Given the description of an element on the screen output the (x, y) to click on. 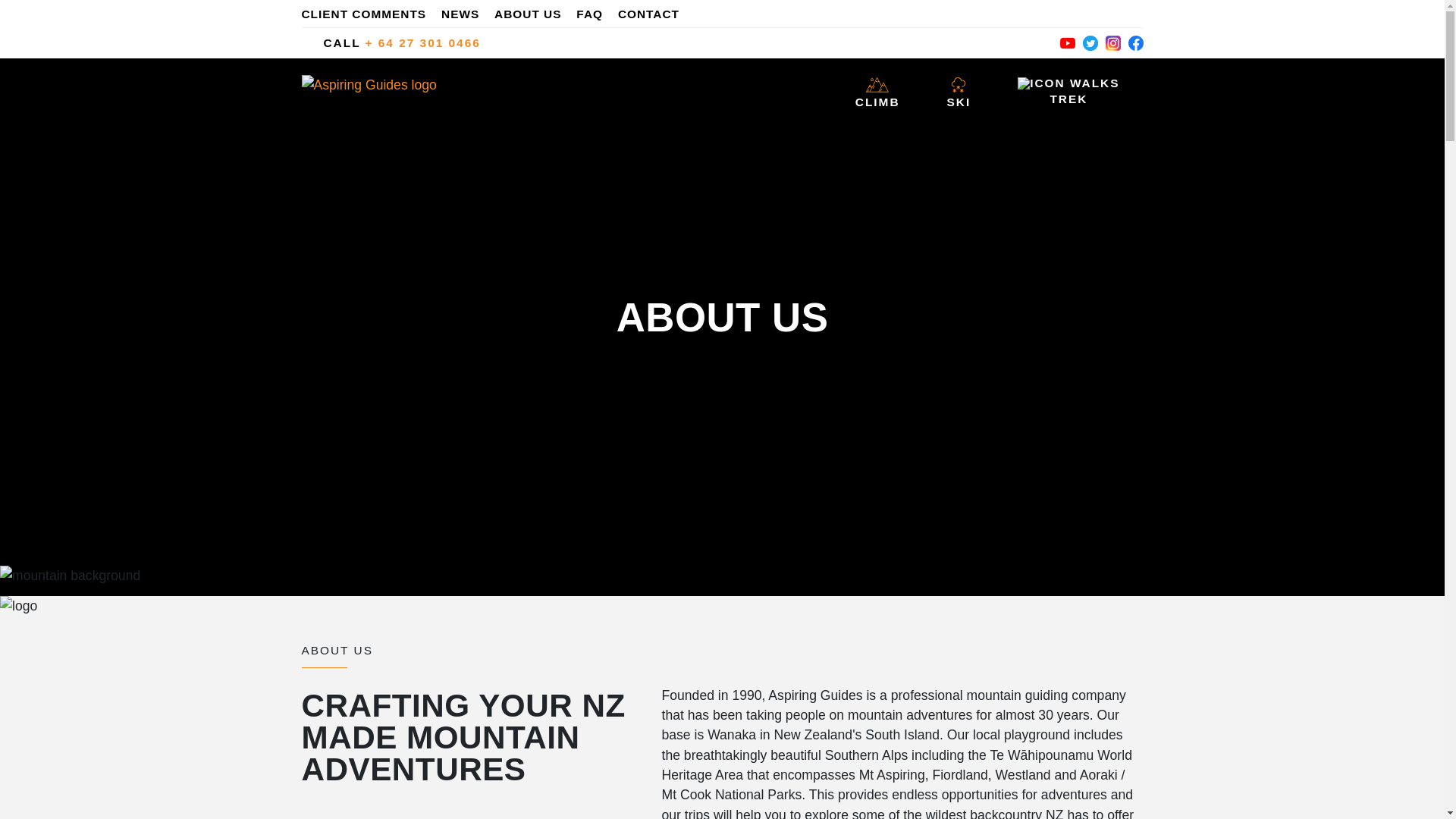
ABOUT US (533, 13)
SKI (958, 90)
CONTACT (653, 13)
CLIENT COMMENTS (369, 13)
FAQ (595, 13)
CLIMB (877, 90)
NEWS (465, 13)
